Given the description of an element on the screen output the (x, y) to click on. 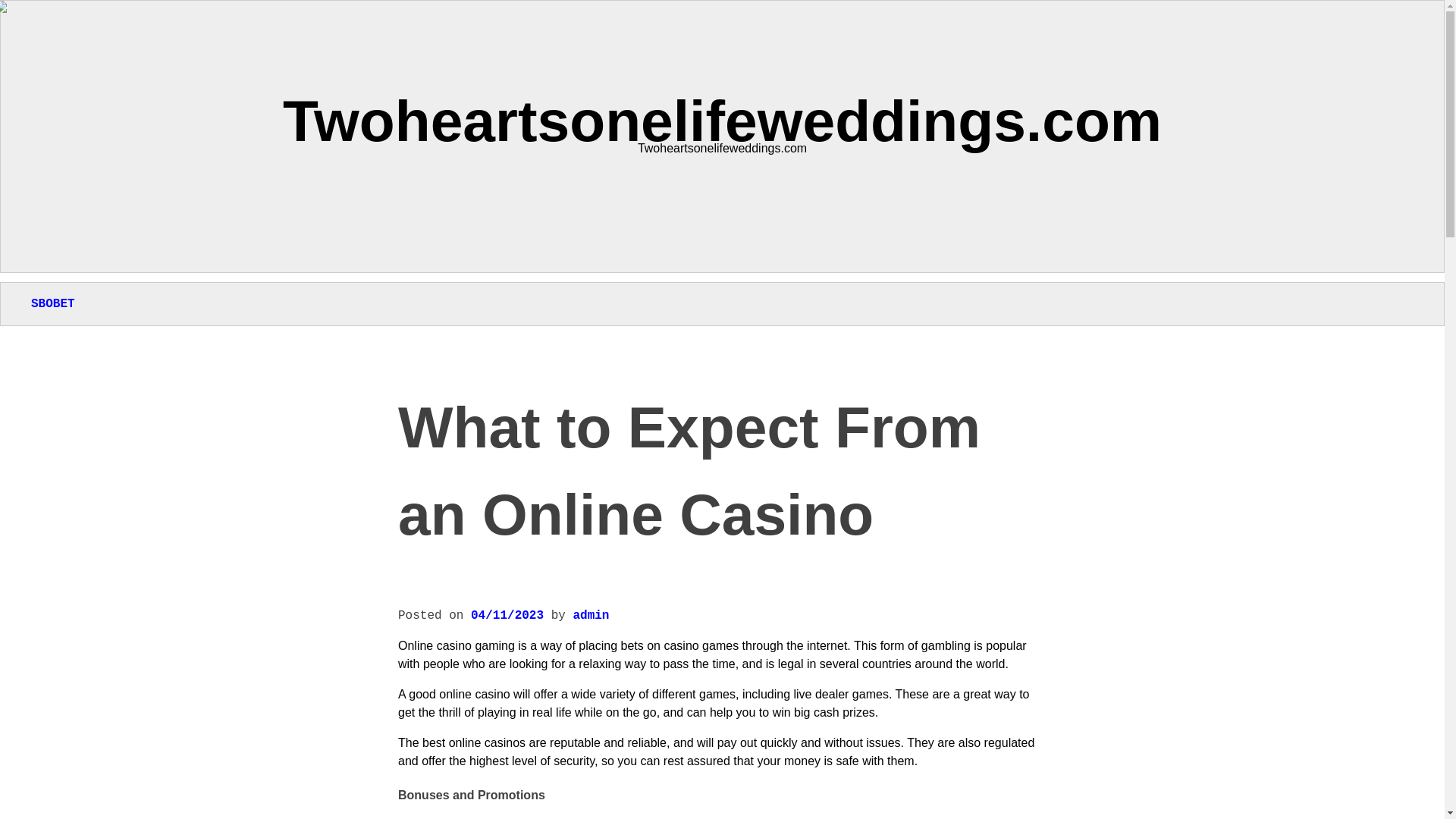
admin (590, 615)
Twoheartsonelifeweddings.com (721, 120)
SBOBET (52, 304)
